Given the description of an element on the screen output the (x, y) to click on. 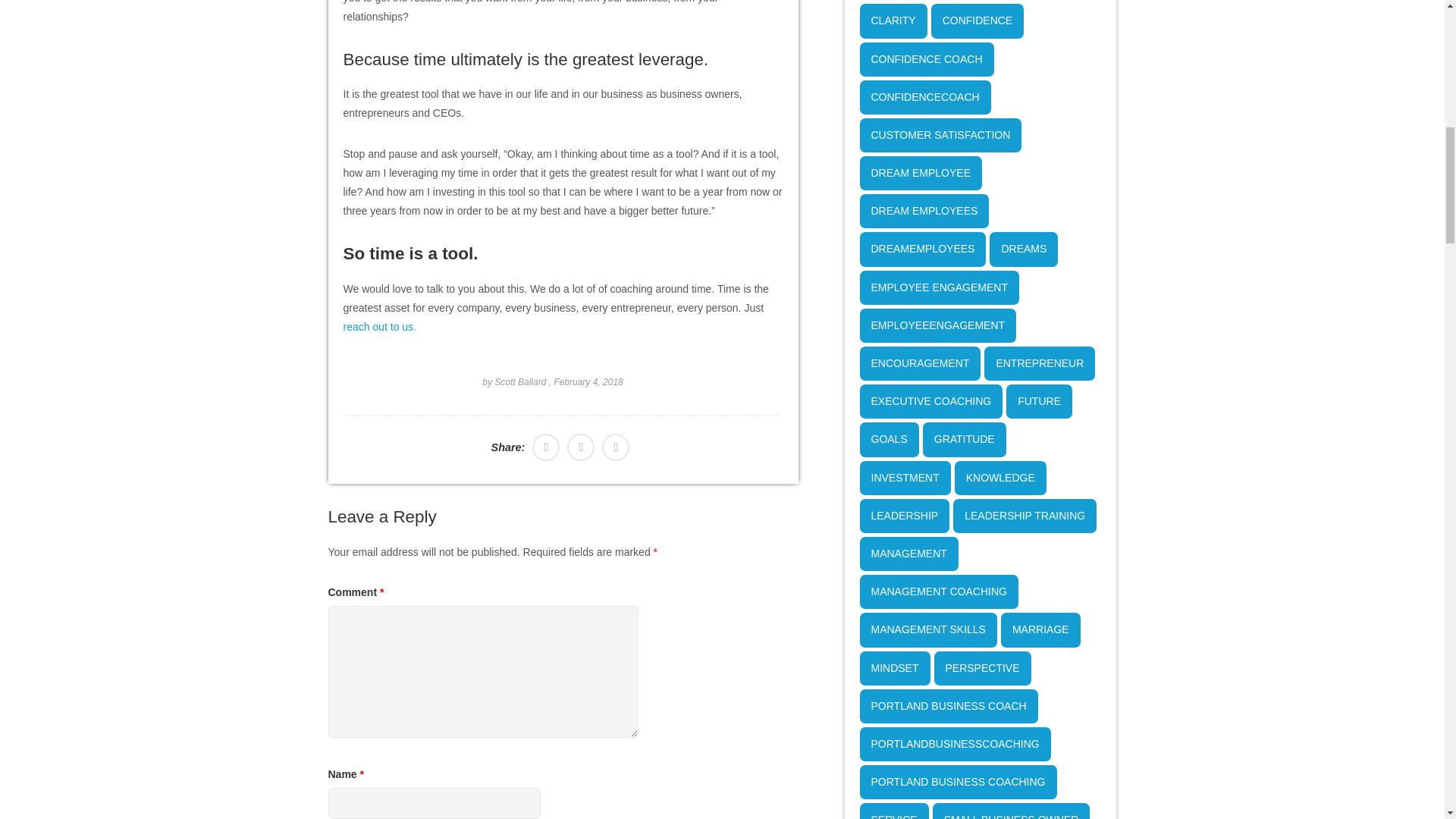
CONFIDENCE COACH (927, 59)
DREAM EMPLOYEE (920, 173)
CONFIDENCECOACH (925, 97)
reach out to us. (379, 326)
Facebook (545, 447)
Twitter (615, 447)
CLARITY (893, 20)
CUSTOMER SATISFACTION (941, 134)
CONFIDENCE (978, 20)
Scott Ballard (520, 381)
